Given the description of an element on the screen output the (x, y) to click on. 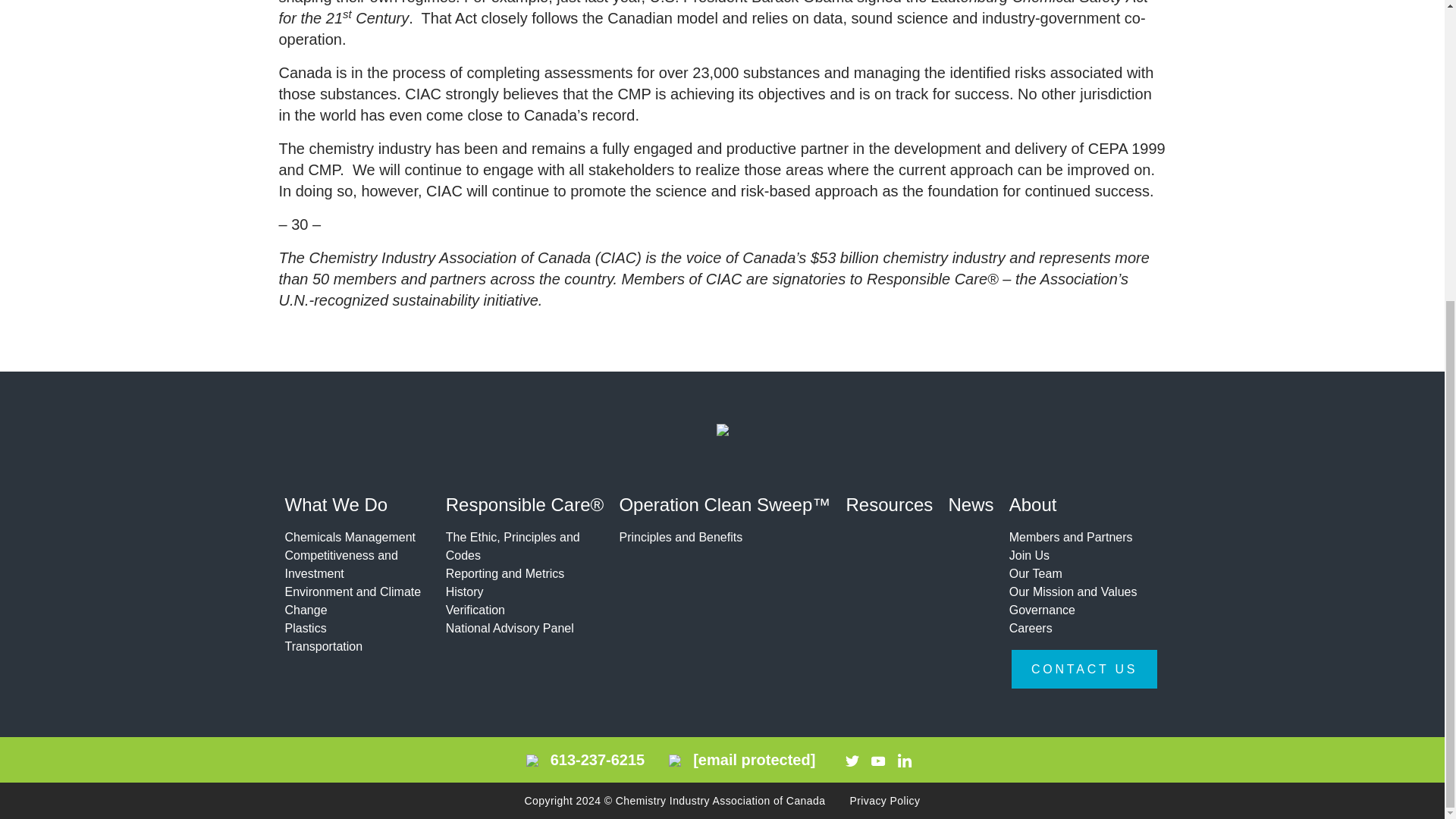
What We Do (354, 507)
Environment and Climate Change (354, 601)
Transportation (354, 647)
Chemicals Management (354, 537)
Competitiveness and Investment (354, 565)
Plastics (354, 628)
